Given the description of an element on the screen output the (x, y) to click on. 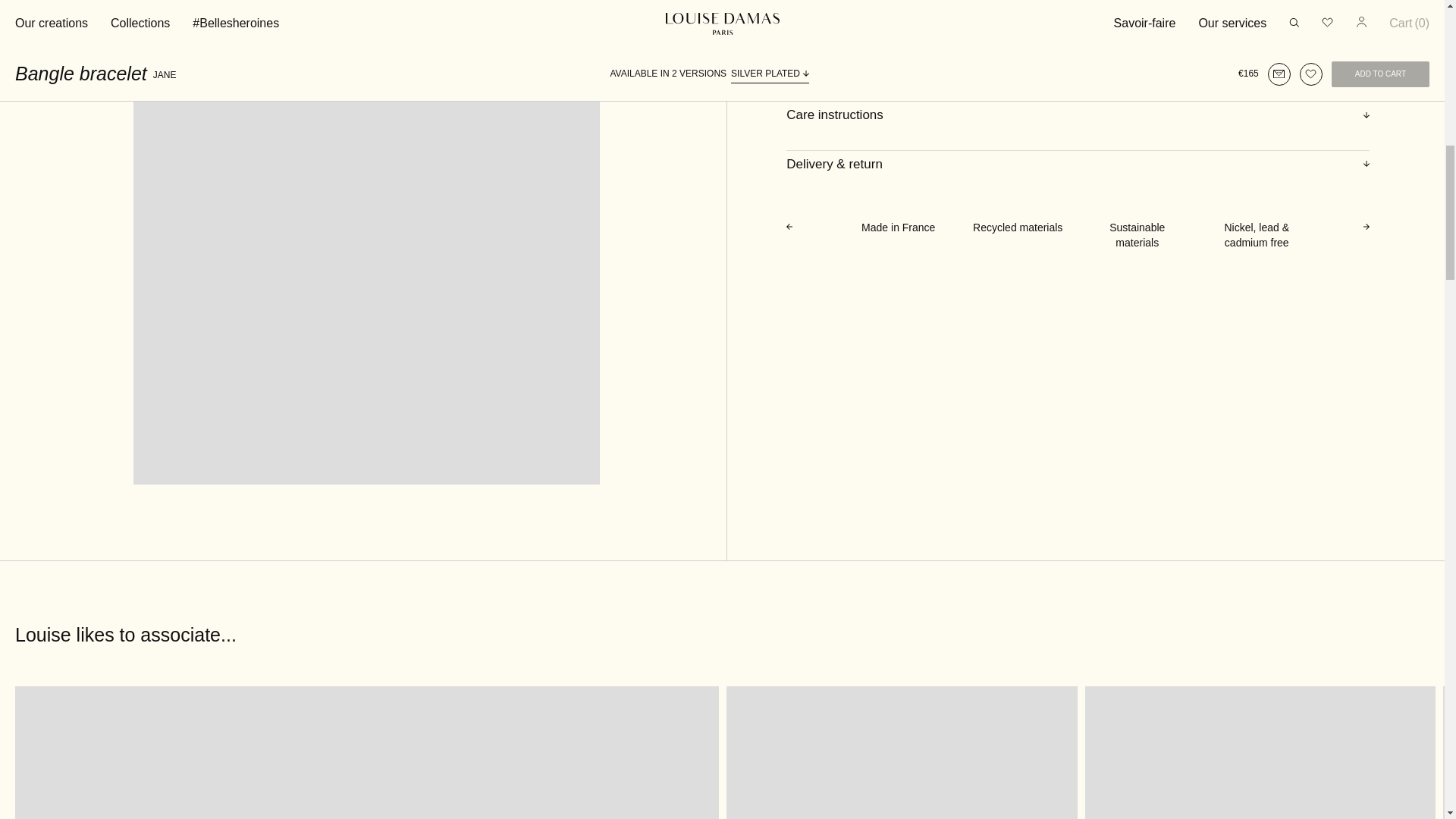
More details (1078, 65)
Care instructions (1078, 115)
Design (1078, 16)
